Given the description of an element on the screen output the (x, y) to click on. 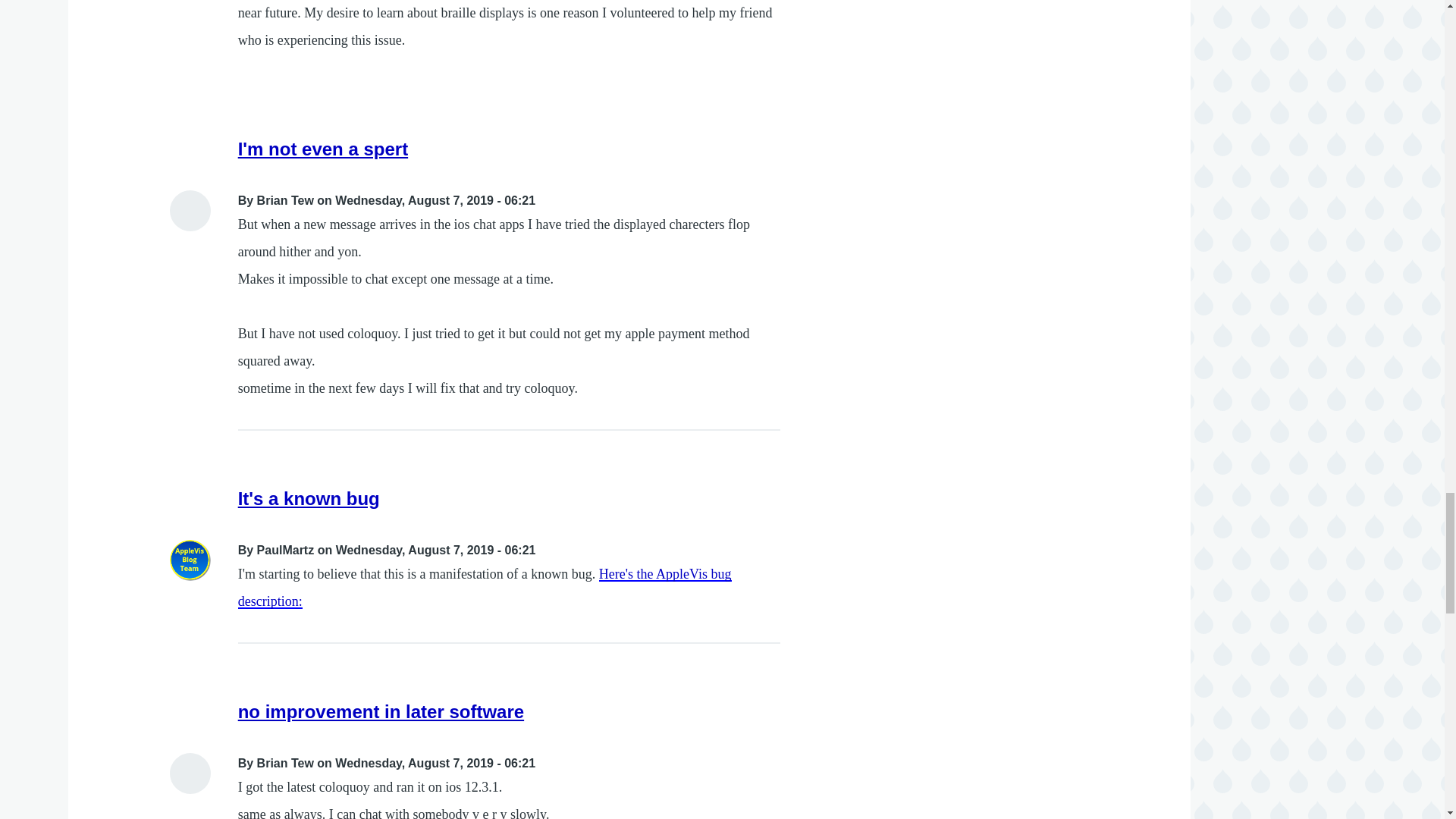
Here's the AppleVis bug description: (485, 587)
no improvement in later software (381, 711)
It's a known bug (309, 498)
I'm not even a spert (322, 148)
